Given the description of an element on the screen output the (x, y) to click on. 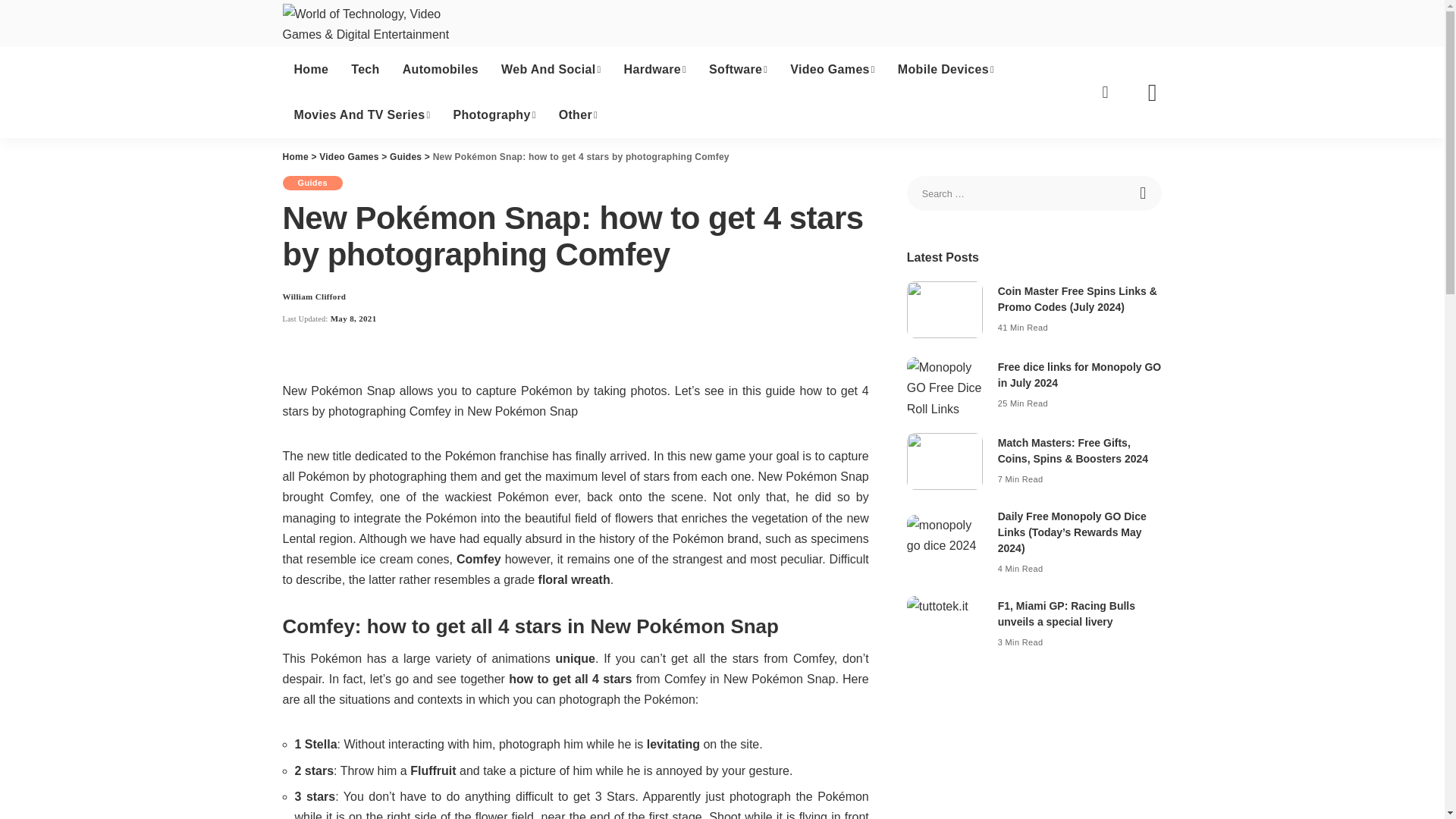
Search (1143, 193)
Search (1143, 193)
Search (1151, 92)
